Given the description of an element on the screen output the (x, y) to click on. 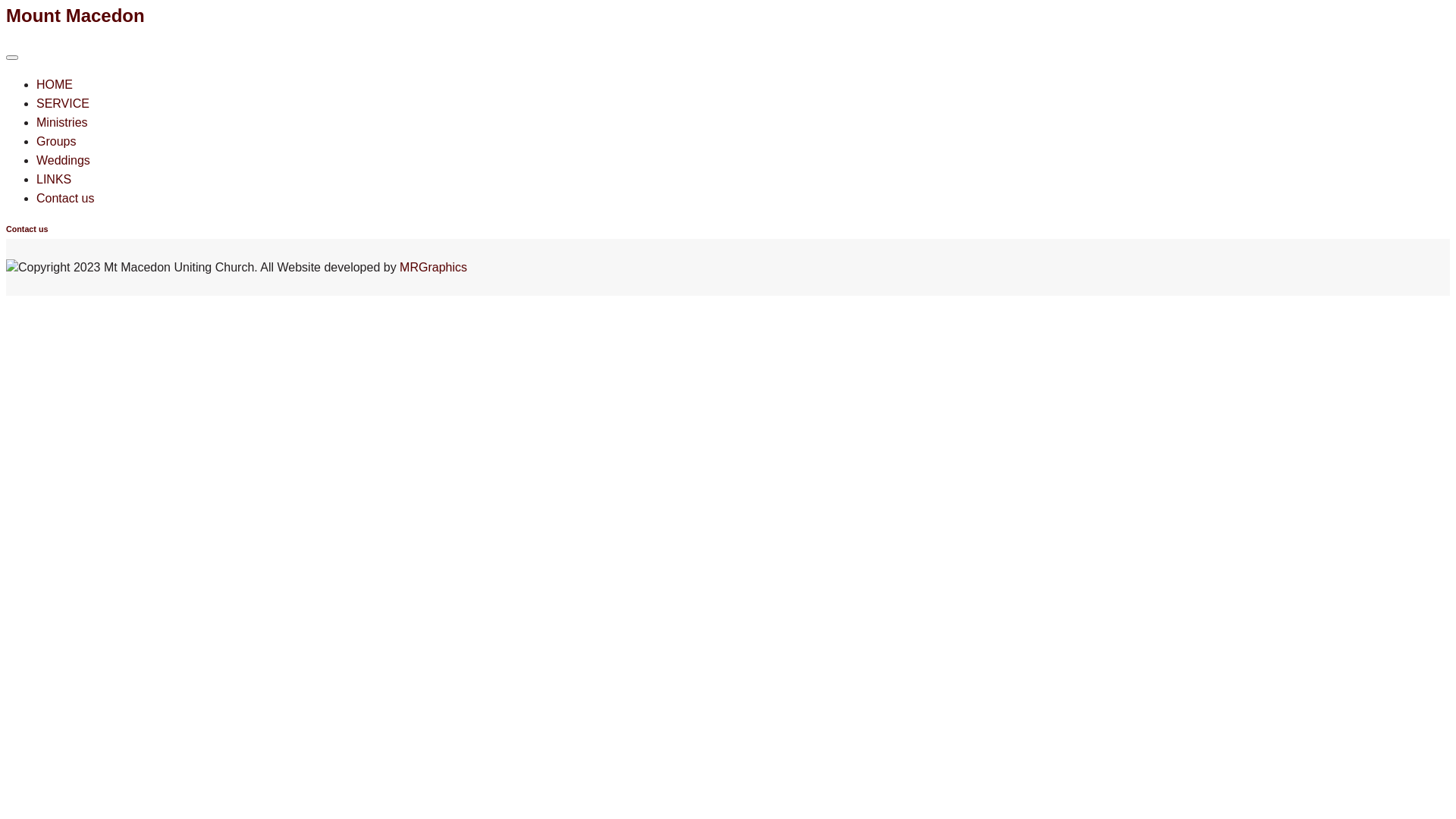
Ministries Element type: text (61, 122)
Groups Element type: text (55, 140)
Weddings Element type: text (63, 159)
SERVICE Element type: text (62, 103)
Contact us Element type: text (65, 197)
HOME Element type: text (54, 84)
MRGraphics Element type: text (433, 266)
LINKS Element type: text (53, 178)
